Given the description of an element on the screen output the (x, y) to click on. 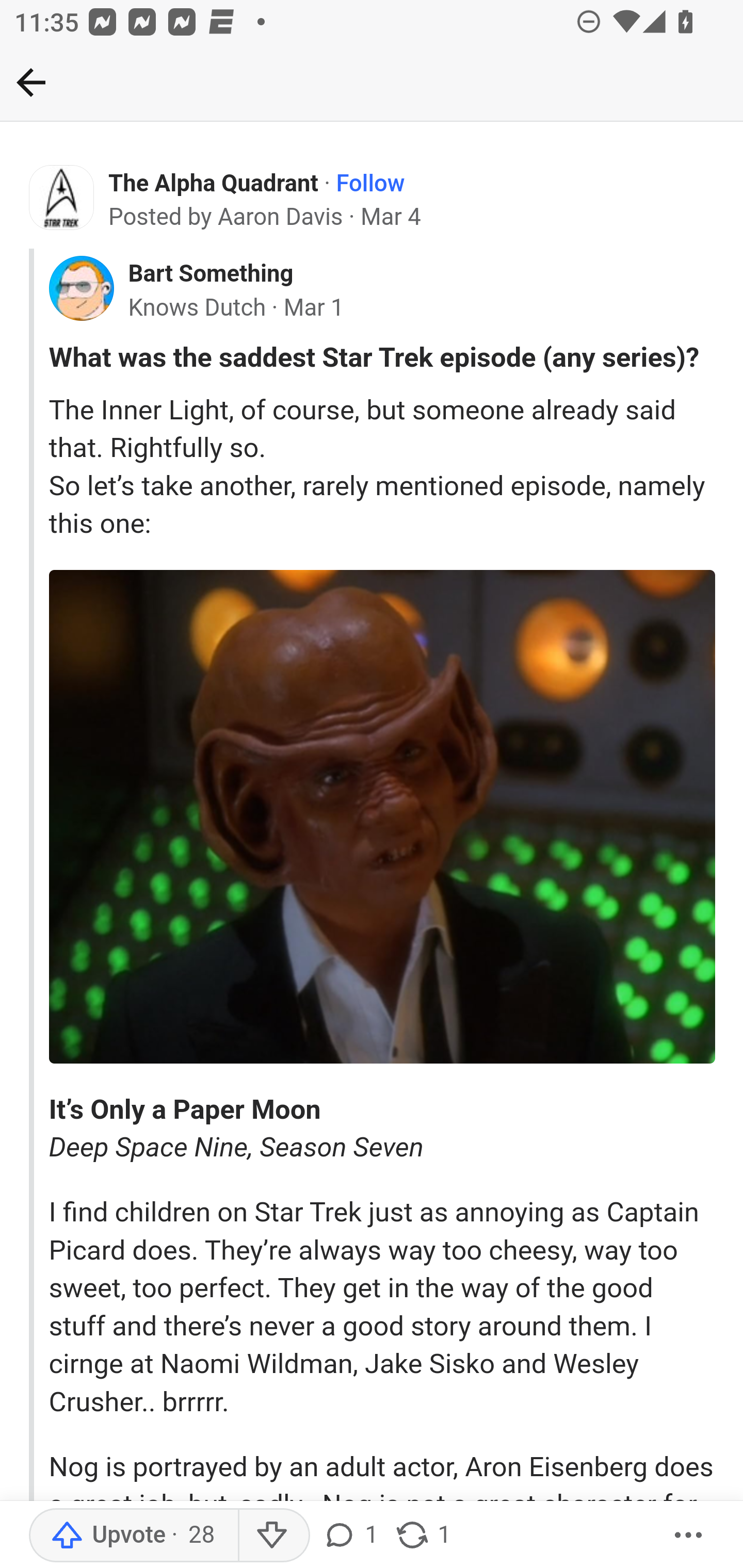
Back (30, 82)
Icon for The Alpha Quadrant (61, 198)
The Alpha Quadrant (213, 183)
Follow (370, 183)
Profile photo for Bart Something (80, 288)
Bart Something (210, 274)
main-qimg-0a9453f55125d56c38dfed03be596402 (381, 816)
Upvote (133, 1535)
Downvote (273, 1535)
1 comment (353, 1535)
1 comment (349, 1535)
1 share (421, 1535)
More (688, 1535)
